Given the description of an element on the screen output the (x, y) to click on. 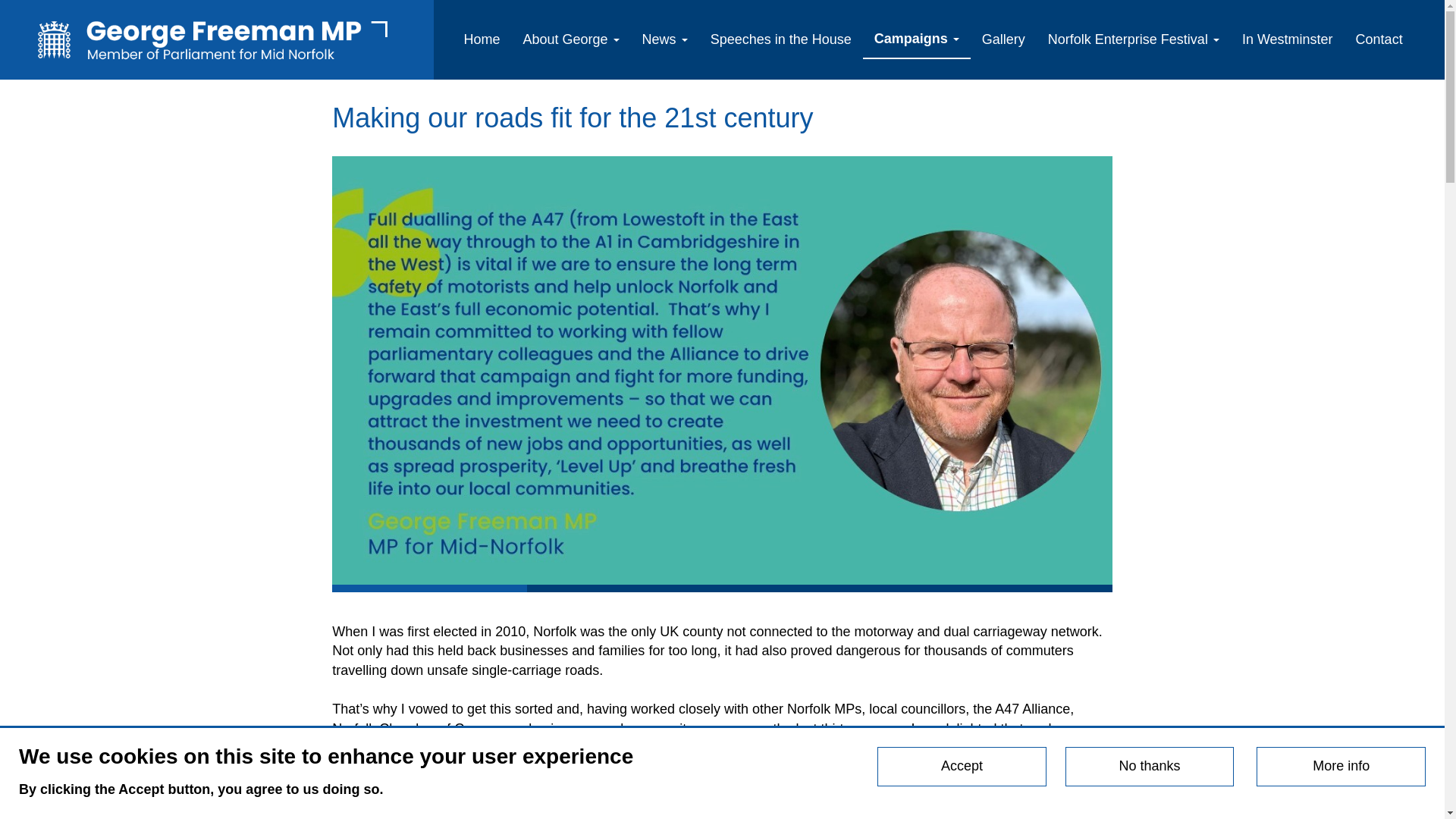
About George (571, 39)
Home (216, 39)
News (664, 39)
Home (481, 39)
Speeches in the House (780, 39)
Campaigns (917, 38)
